Given the description of an element on the screen output the (x, y) to click on. 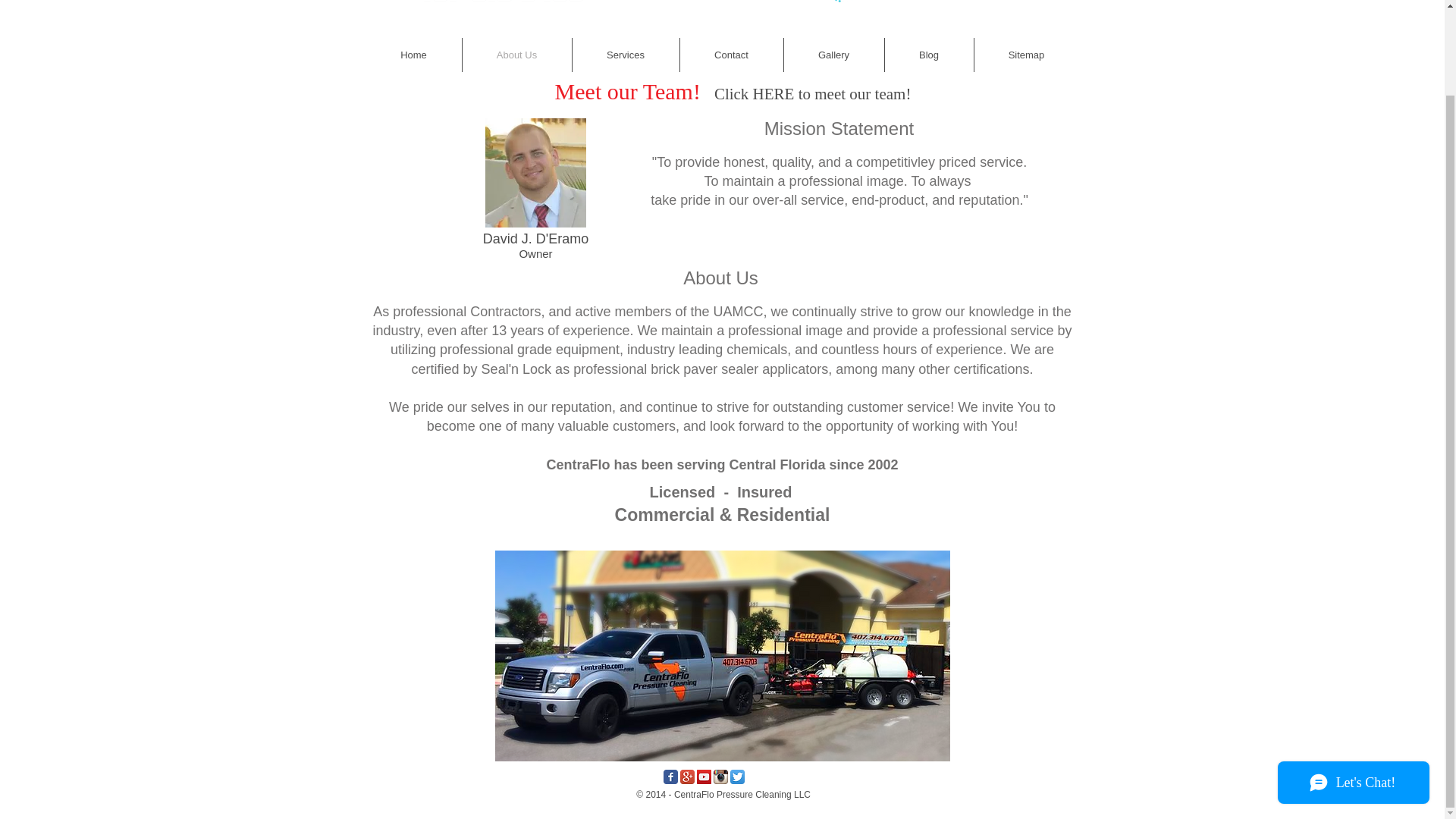
Pressure Cleaning Orlando, FL (722, 655)
Gallery (833, 54)
Pressure Washing Orlando (514, 1)
Contact (731, 54)
Blog (927, 54)
Meet our Team!  Click HERE to meet our team! (732, 89)
Sitemap (1026, 54)
Home (413, 54)
About Us (517, 54)
Services (625, 54)
